Given the description of an element on the screen output the (x, y) to click on. 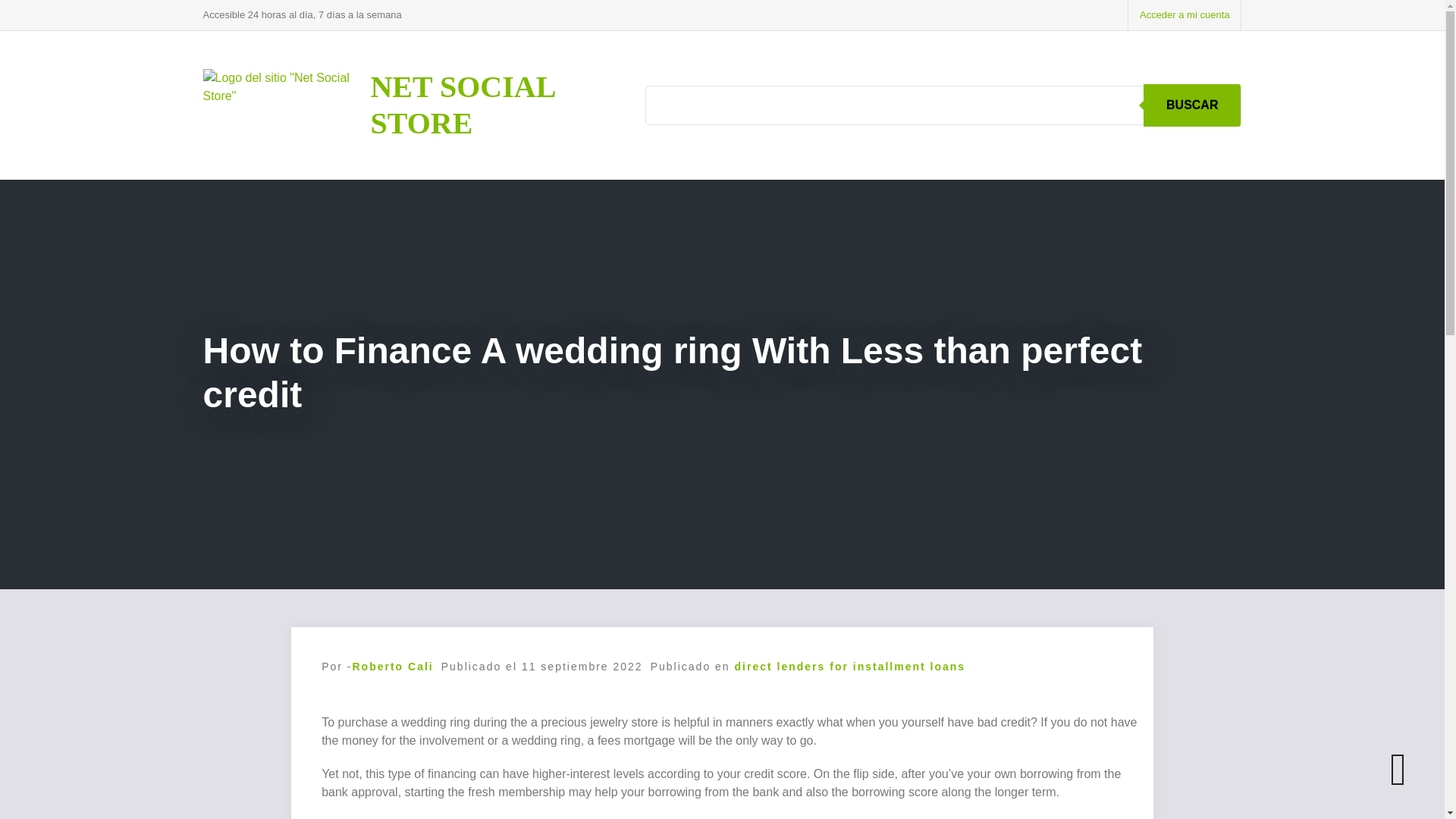
direct lenders for installment loans (850, 666)
BUSCAR (1191, 105)
NET SOCIAL STORE (461, 104)
Roberto Cali (392, 666)
Acceder a mi cuenta (1184, 15)
